Given the description of an element on the screen output the (x, y) to click on. 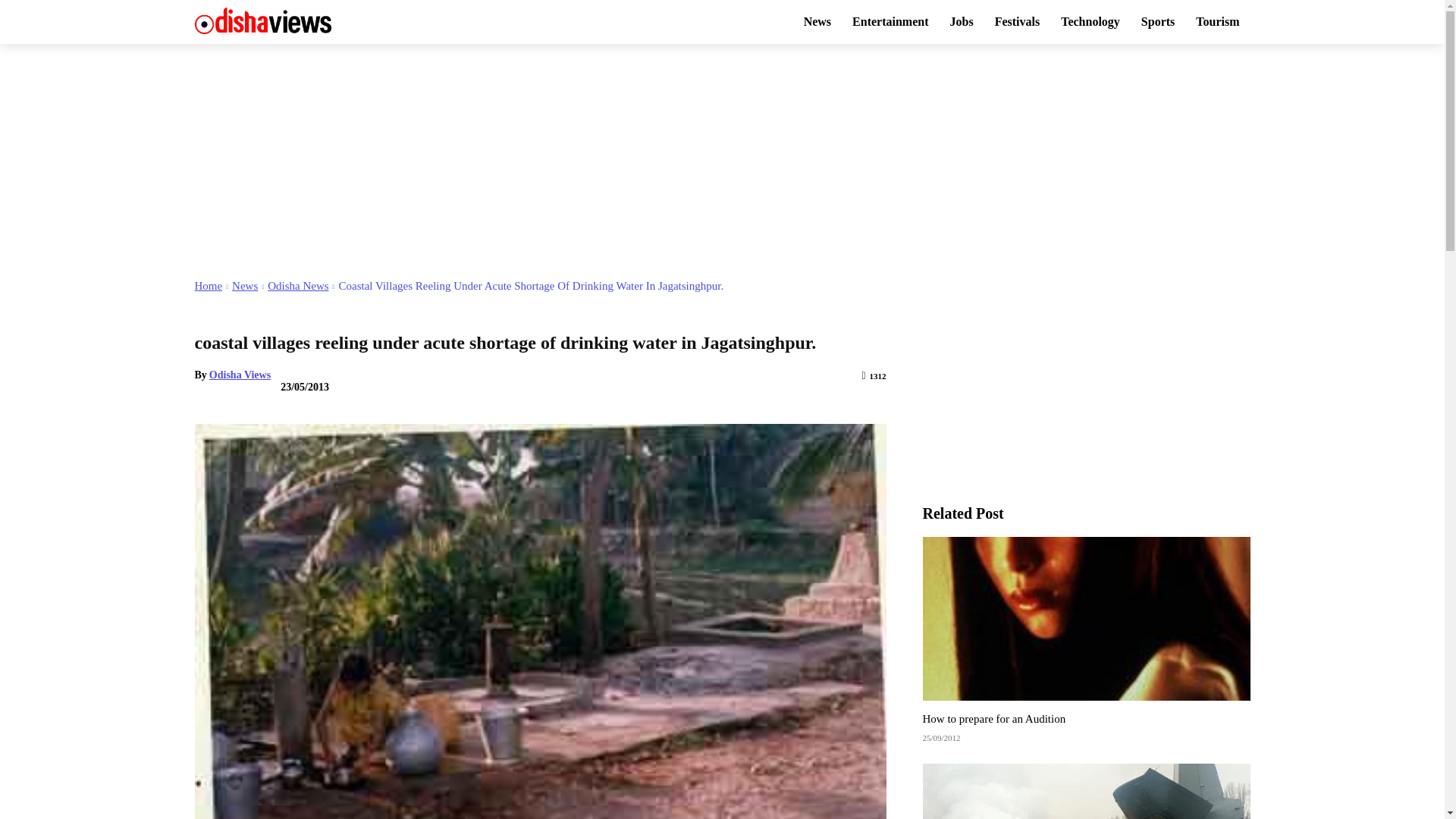
View all posts in News (244, 285)
Home (207, 285)
Tourism (1217, 22)
Festivals (1017, 22)
Odisha News (298, 285)
News (817, 22)
OdishaViews (261, 20)
News (244, 285)
Jobs (961, 22)
Technology (1090, 22)
Odisha Views (239, 374)
OdishaViews (311, 20)
Entertainment (890, 22)
View all posts in Odisha News (298, 285)
